Given the description of an element on the screen output the (x, y) to click on. 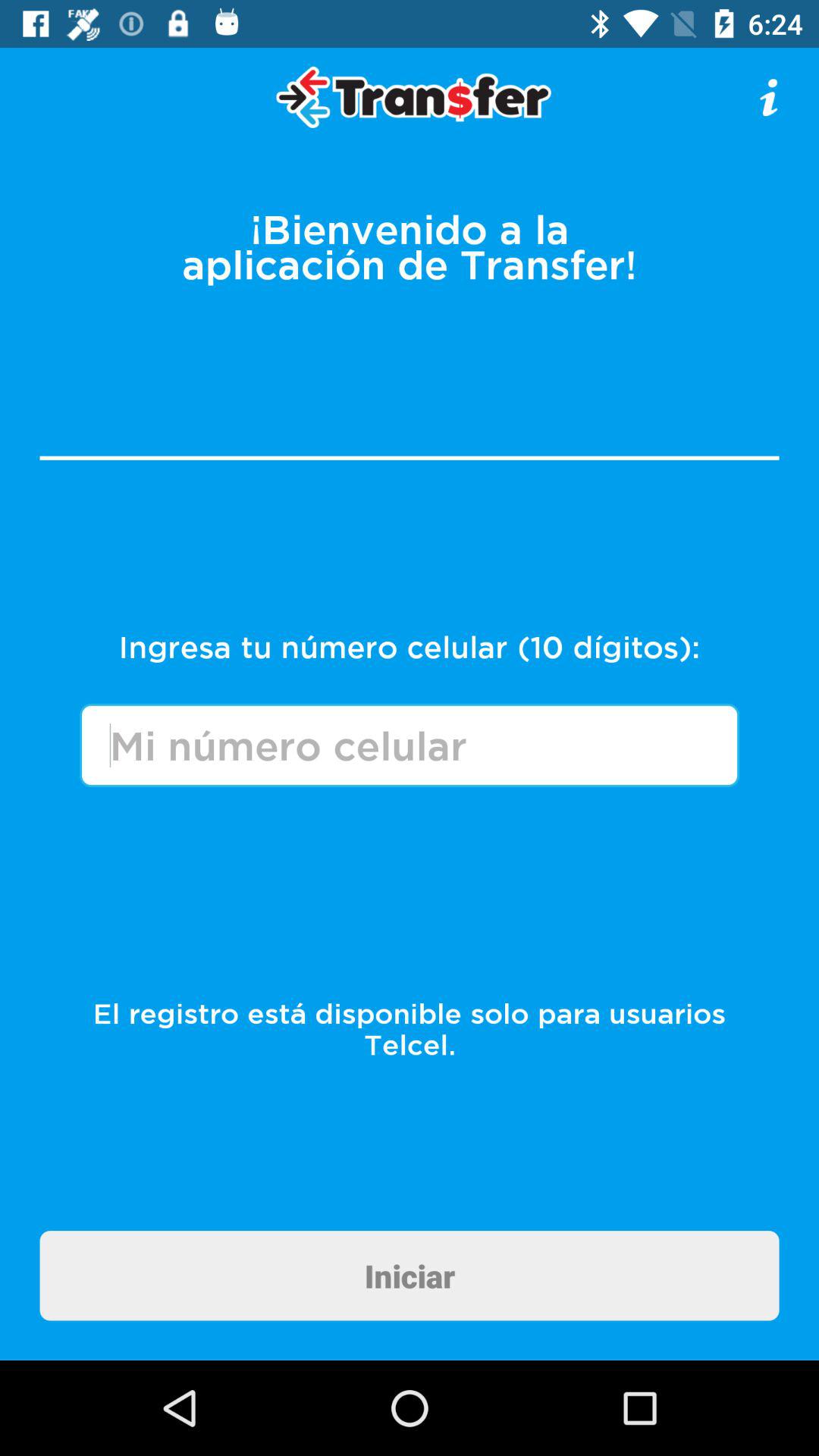
select number box (409, 745)
